Given the description of an element on the screen output the (x, y) to click on. 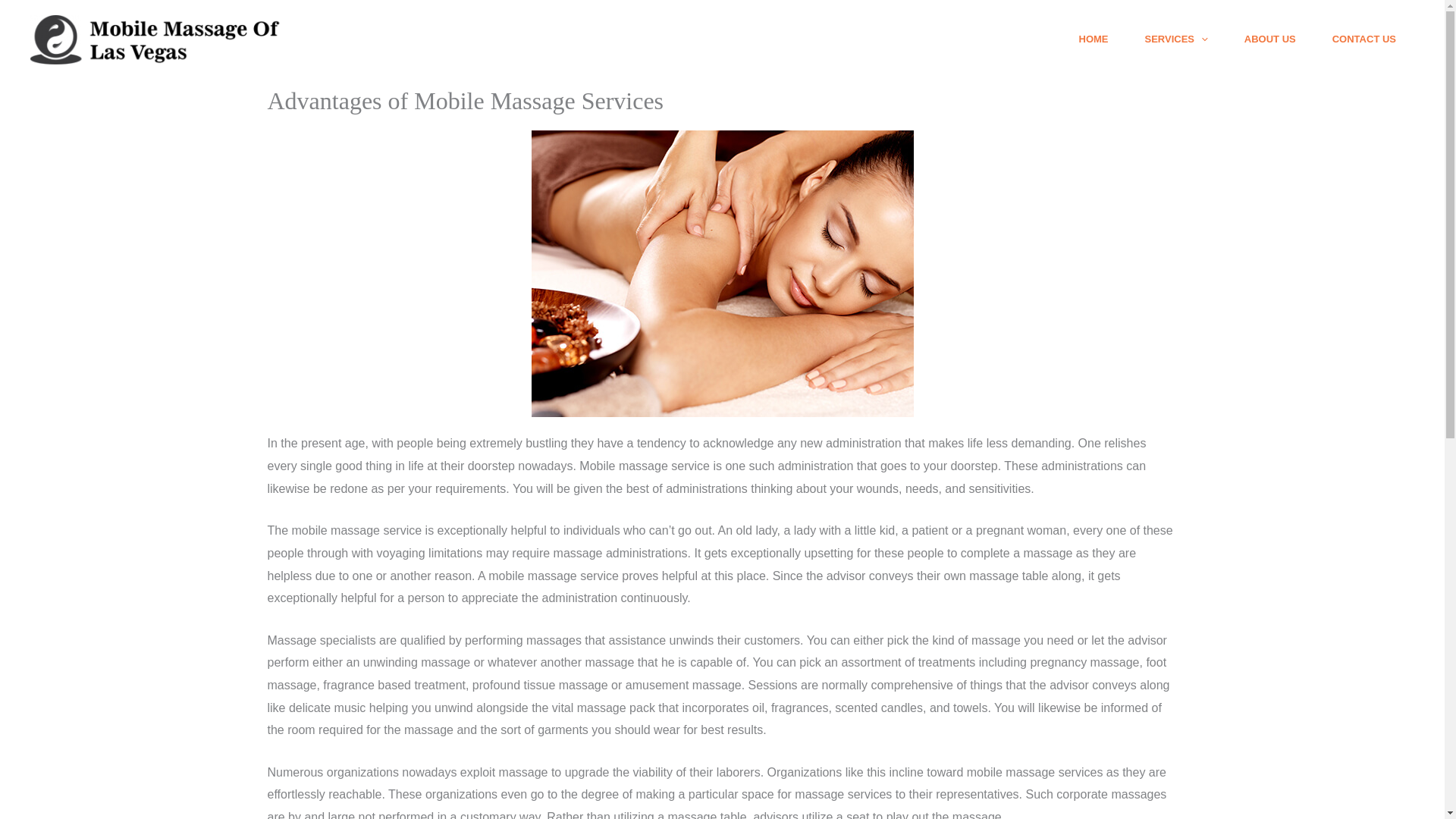
CONTACT US (1363, 39)
ABOUT US (1269, 39)
SERVICES (1175, 39)
